Given the description of an element on the screen output the (x, y) to click on. 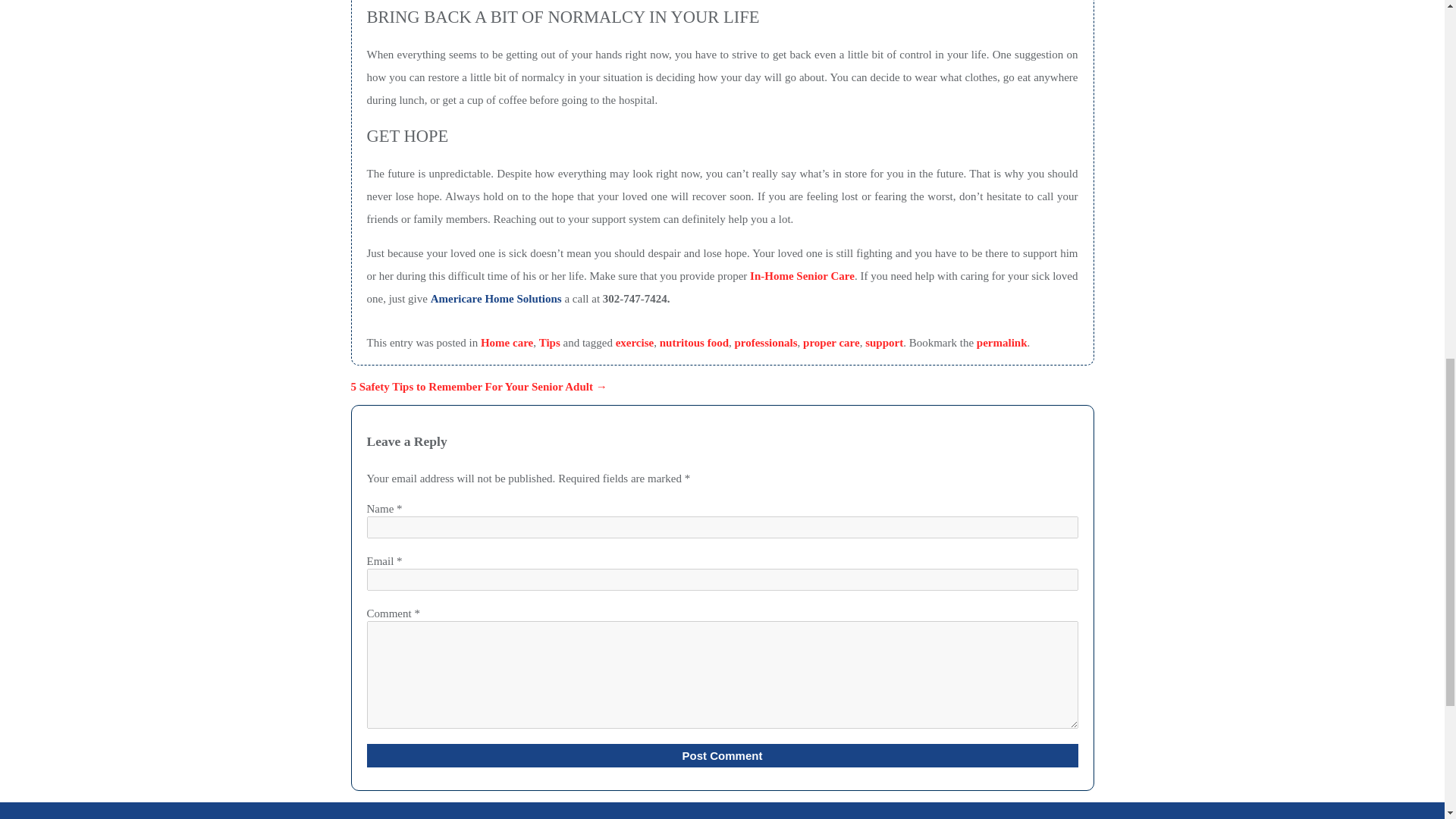
Post Comment (722, 755)
nutritous food (694, 342)
Post Comment (722, 755)
professionals (764, 342)
proper care (831, 342)
permalink (1001, 342)
support (883, 342)
Tips (549, 342)
Home care (506, 342)
In-Home Senior Care (801, 275)
exercise (634, 342)
Permalink to 5 Coping Tips When Your Loved One Is Sick (1001, 342)
